Given the description of an element on the screen output the (x, y) to click on. 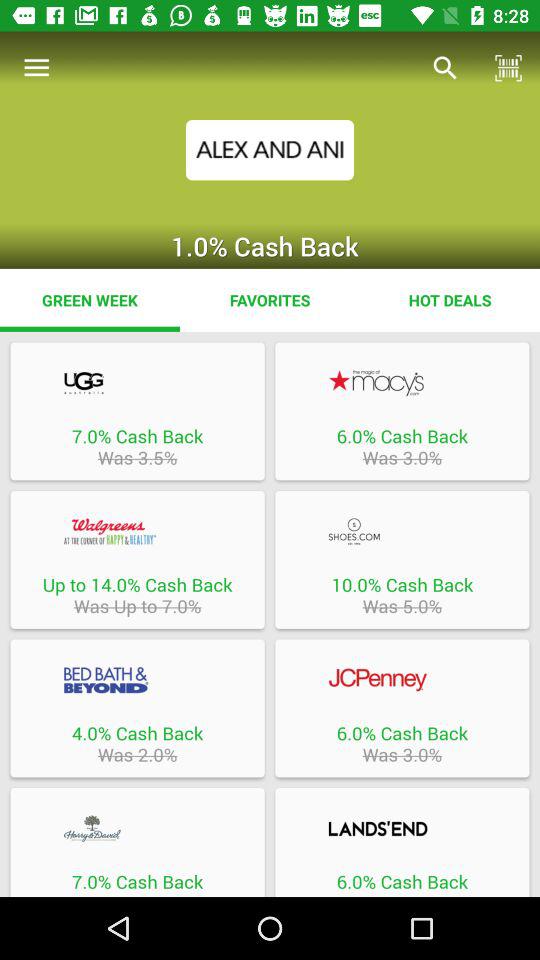
select icon next to hot deals icon (270, 299)
